Given the description of an element on the screen output the (x, y) to click on. 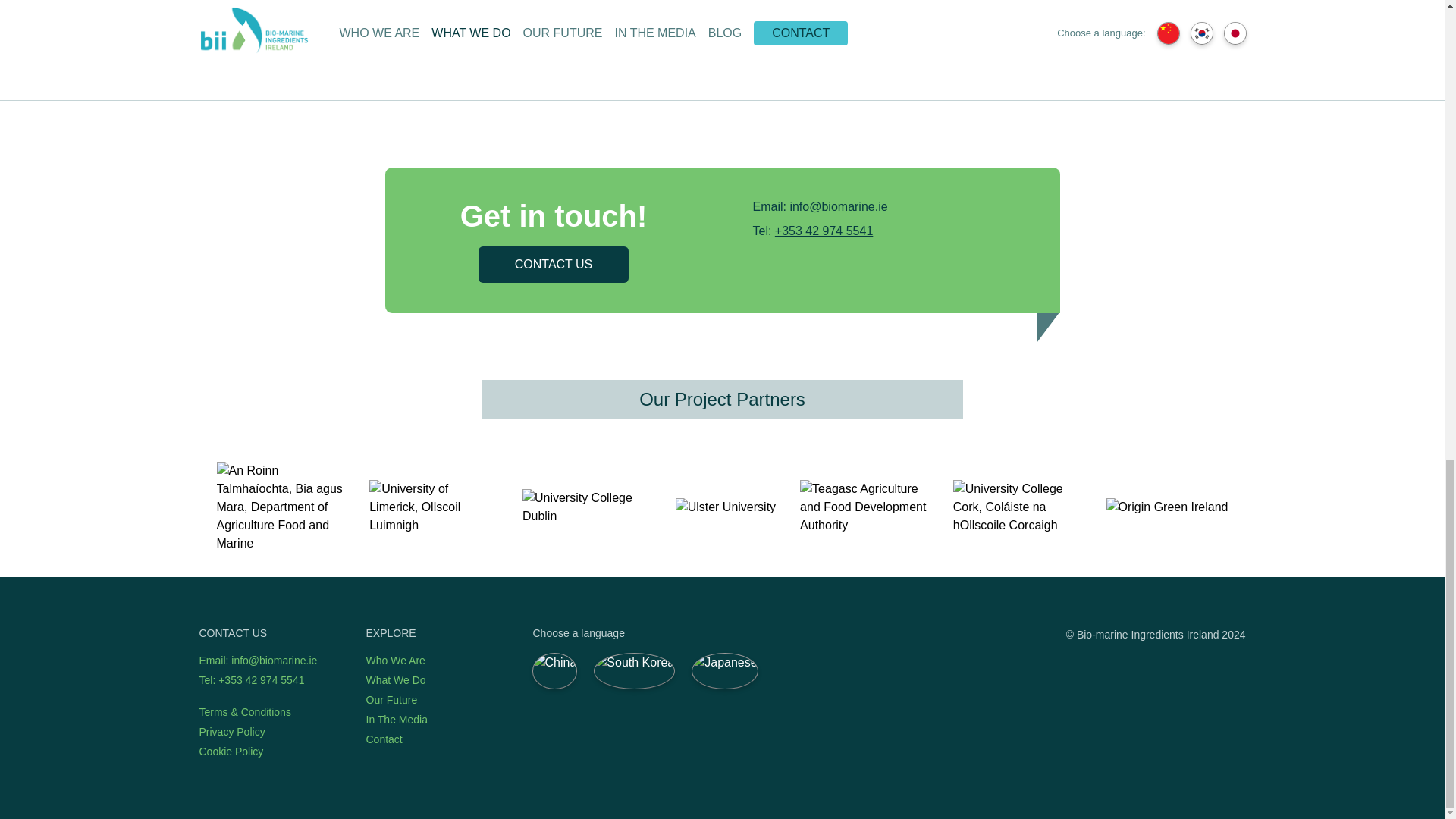
Privacy Policy (231, 731)
Who We Are (395, 660)
CONTACT US (553, 264)
Cookie Policy (230, 751)
